Given the description of an element on the screen output the (x, y) to click on. 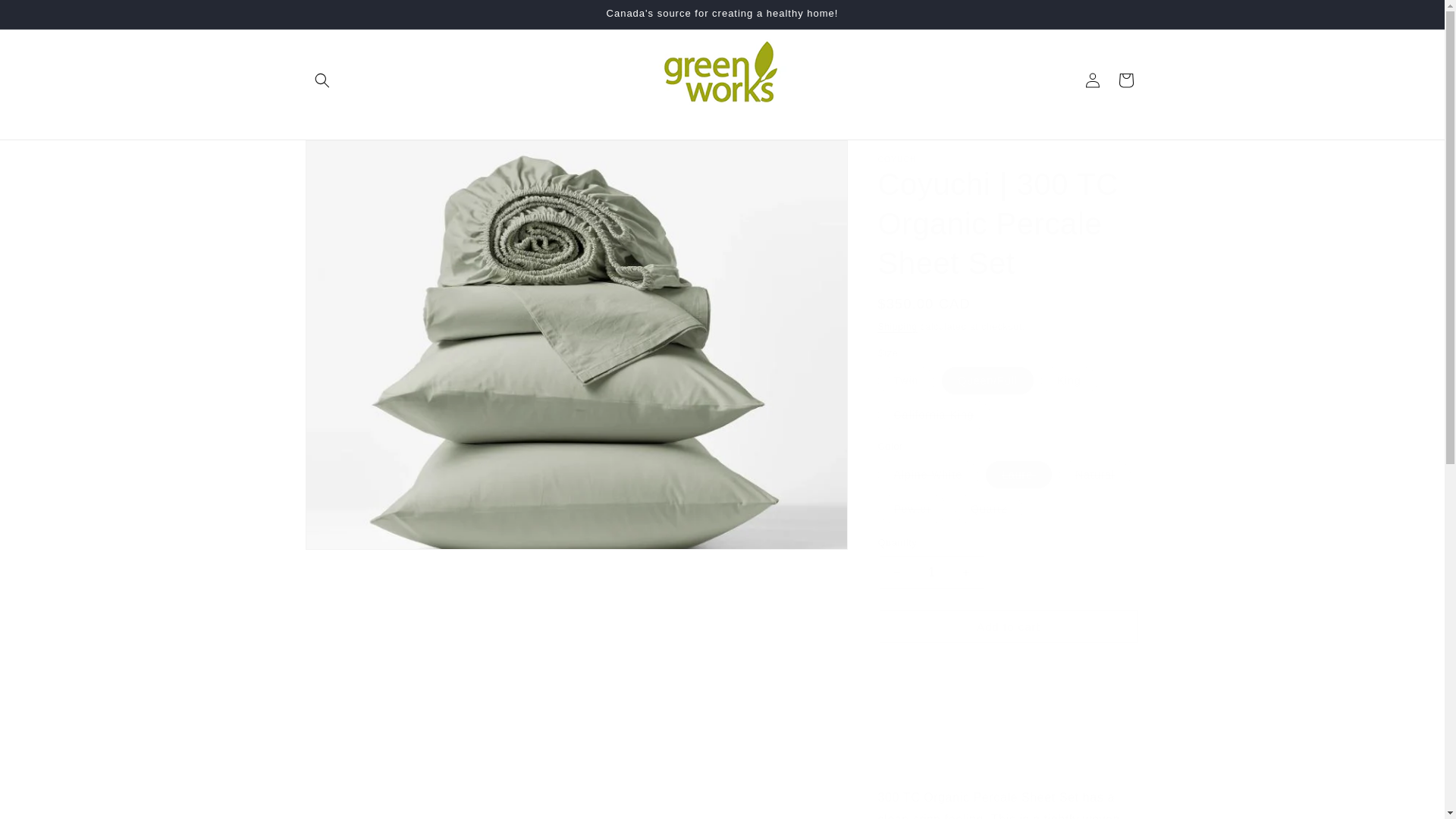
Shipping (897, 326)
Cart (1124, 80)
Log in (1091, 80)
Skip to product information (350, 157)
Skip to content (45, 17)
1 (931, 572)
Add to cart (1008, 626)
